Given the description of an element on the screen output the (x, y) to click on. 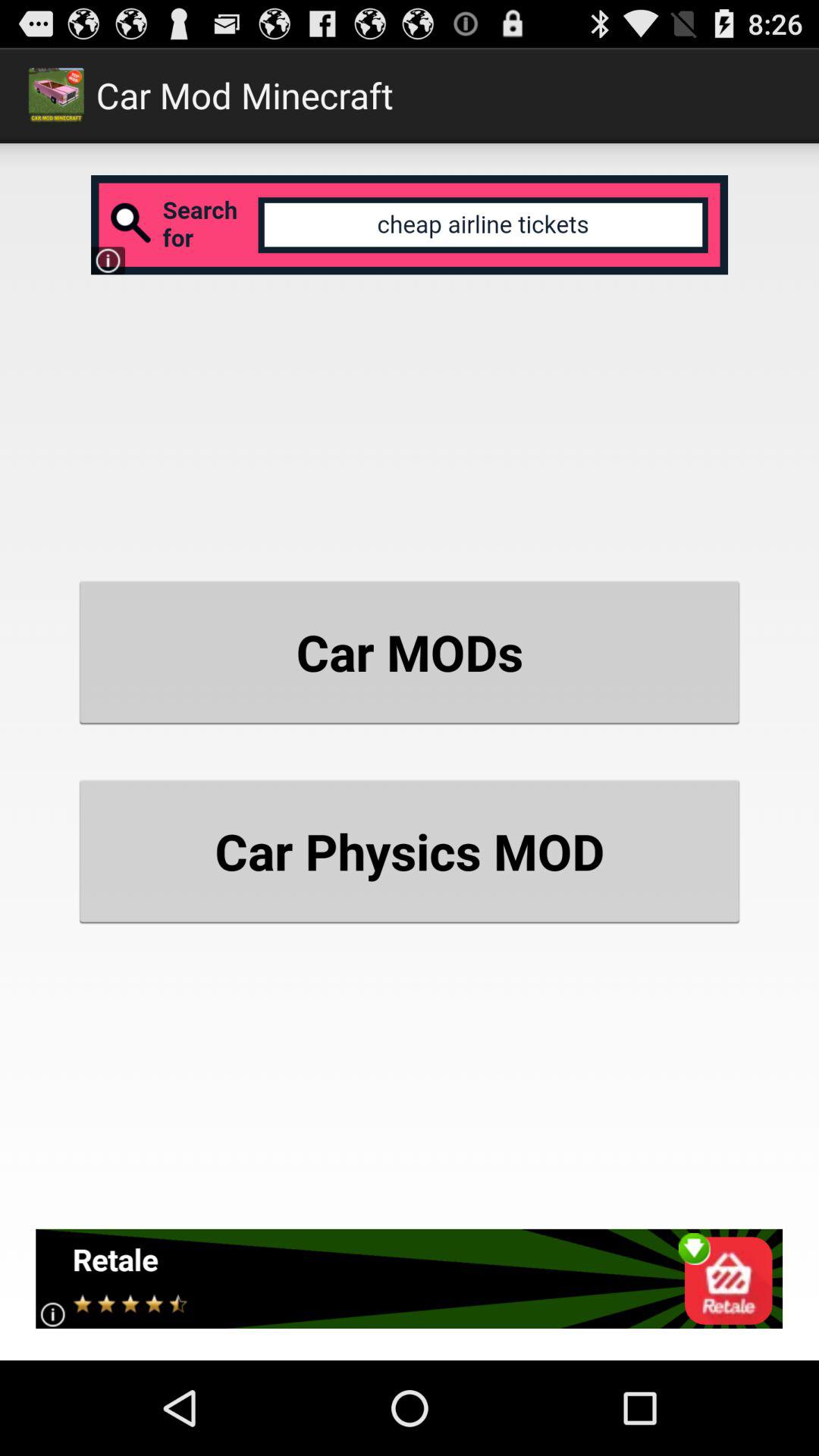
advertisements bar (408, 1278)
